Given the description of an element on the screen output the (x, y) to click on. 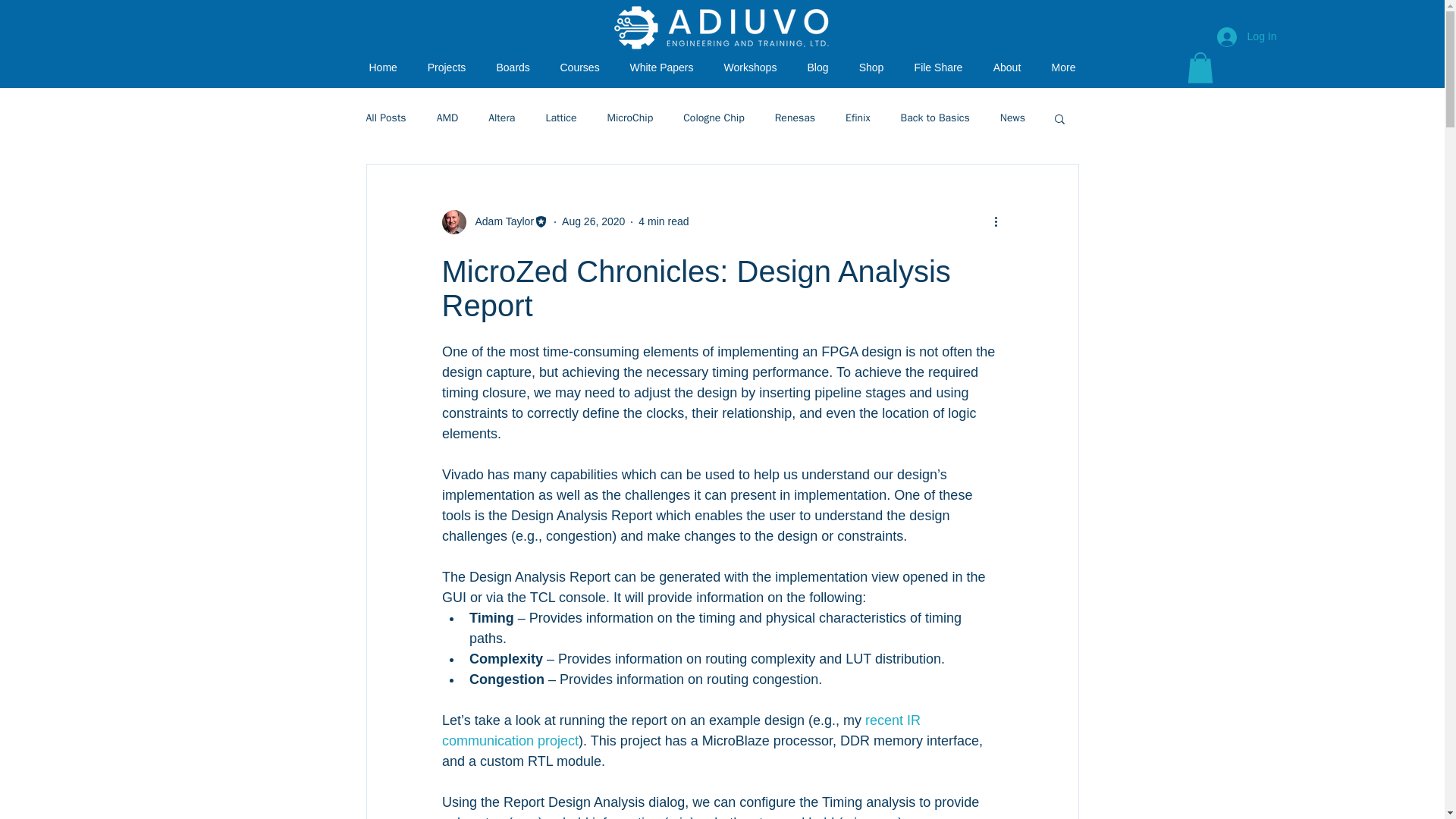
File Share (938, 67)
Lattice (560, 118)
Aug 26, 2020 (593, 221)
Efinix (857, 118)
Back to Basics (935, 118)
4 min read (663, 221)
Boards (512, 67)
Home (382, 67)
News (1012, 118)
MicroChip (630, 118)
Adam Taylor (499, 221)
Altera (501, 118)
Cologne Chip (713, 118)
Courses (579, 67)
All Posts (385, 118)
